Given the description of an element on the screen output the (x, y) to click on. 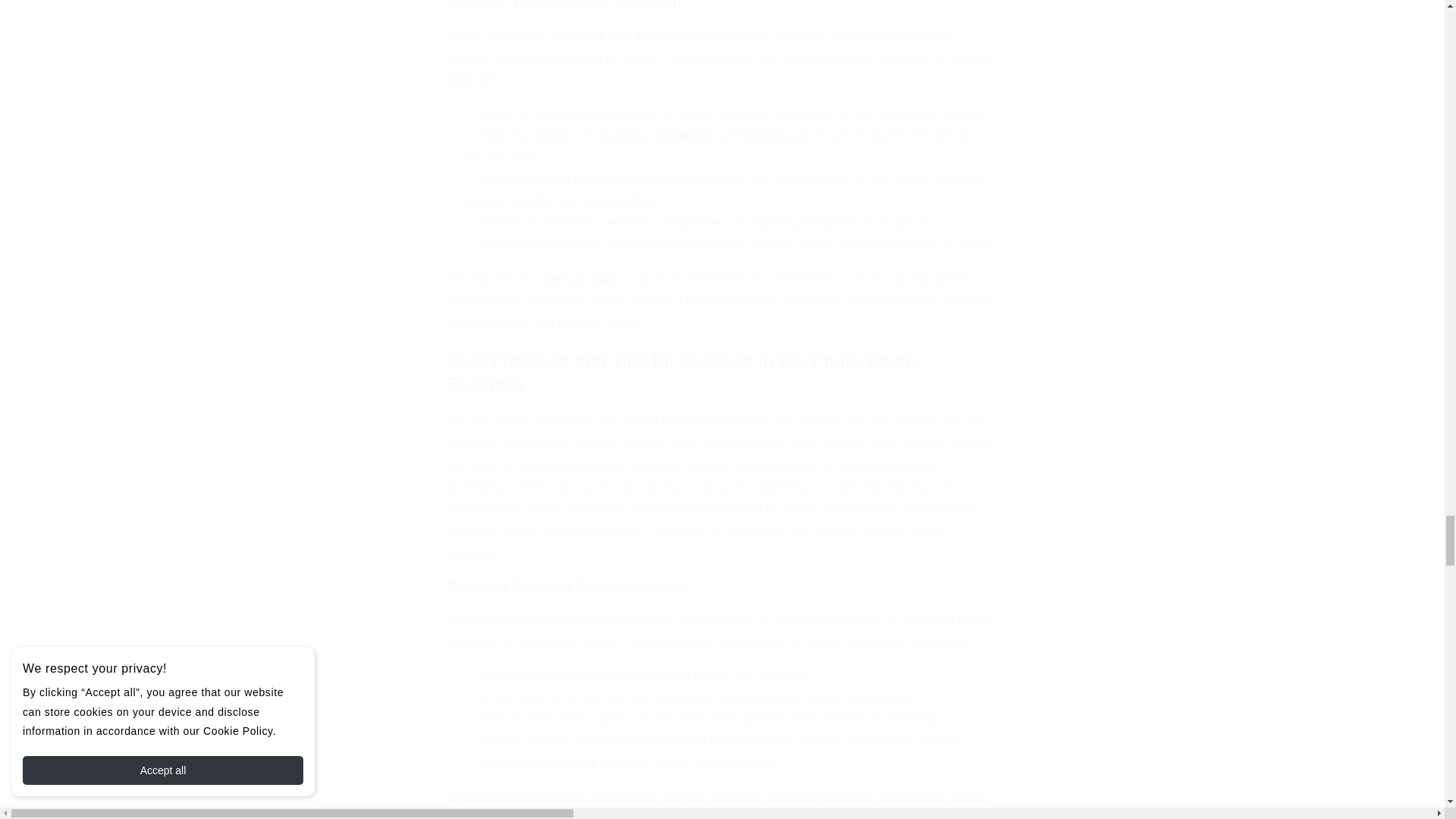
photo booth success (695, 541)
